Given the description of an element on the screen output the (x, y) to click on. 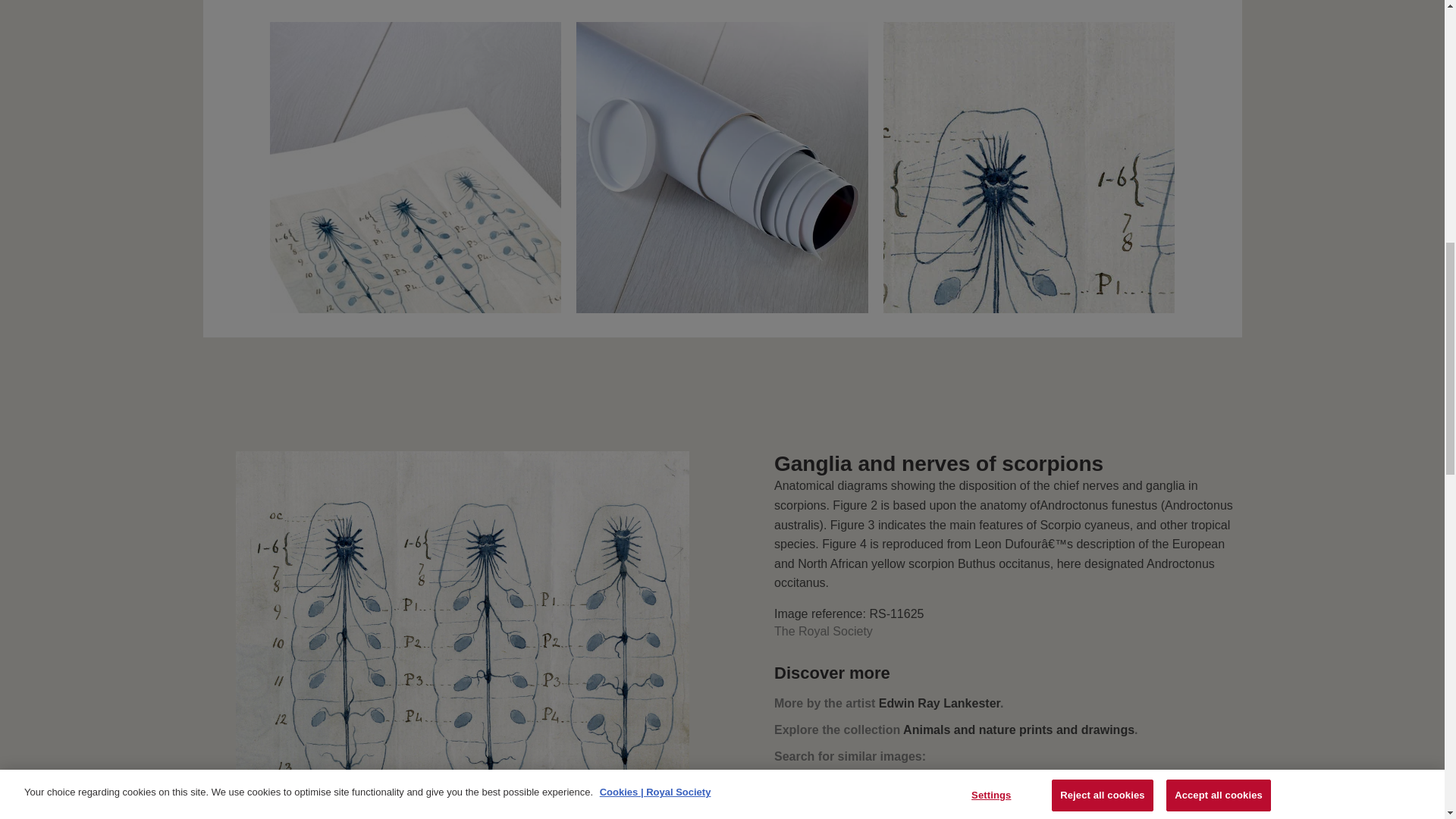
Animals and nature prints and drawings (1018, 729)
animal (798, 790)
zoology (861, 790)
Edwin Ray Lankester (939, 703)
